Given the description of an element on the screen output the (x, y) to click on. 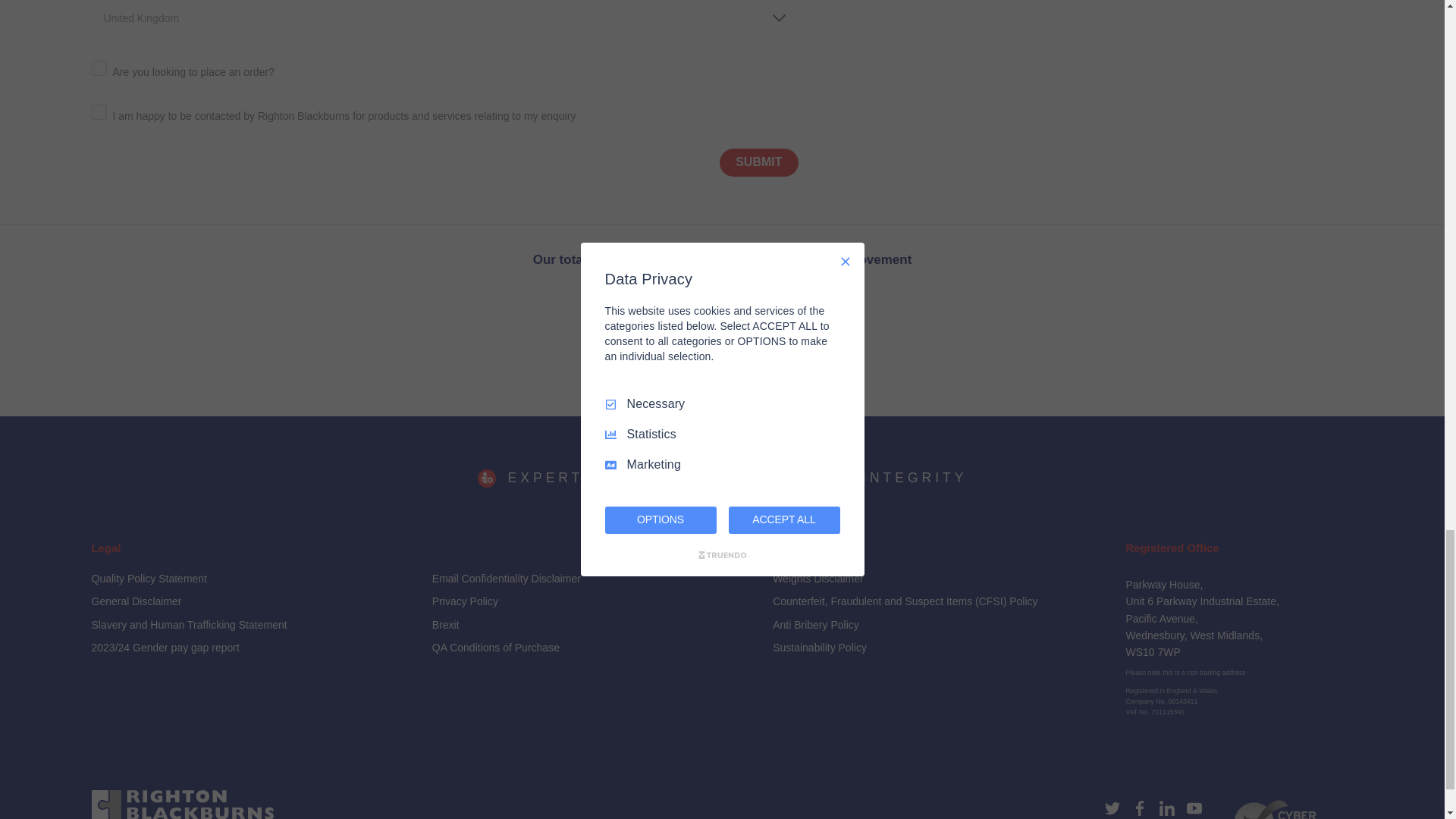
1 (98, 111)
Yes (98, 68)
